Given the description of an element on the screen output the (x, y) to click on. 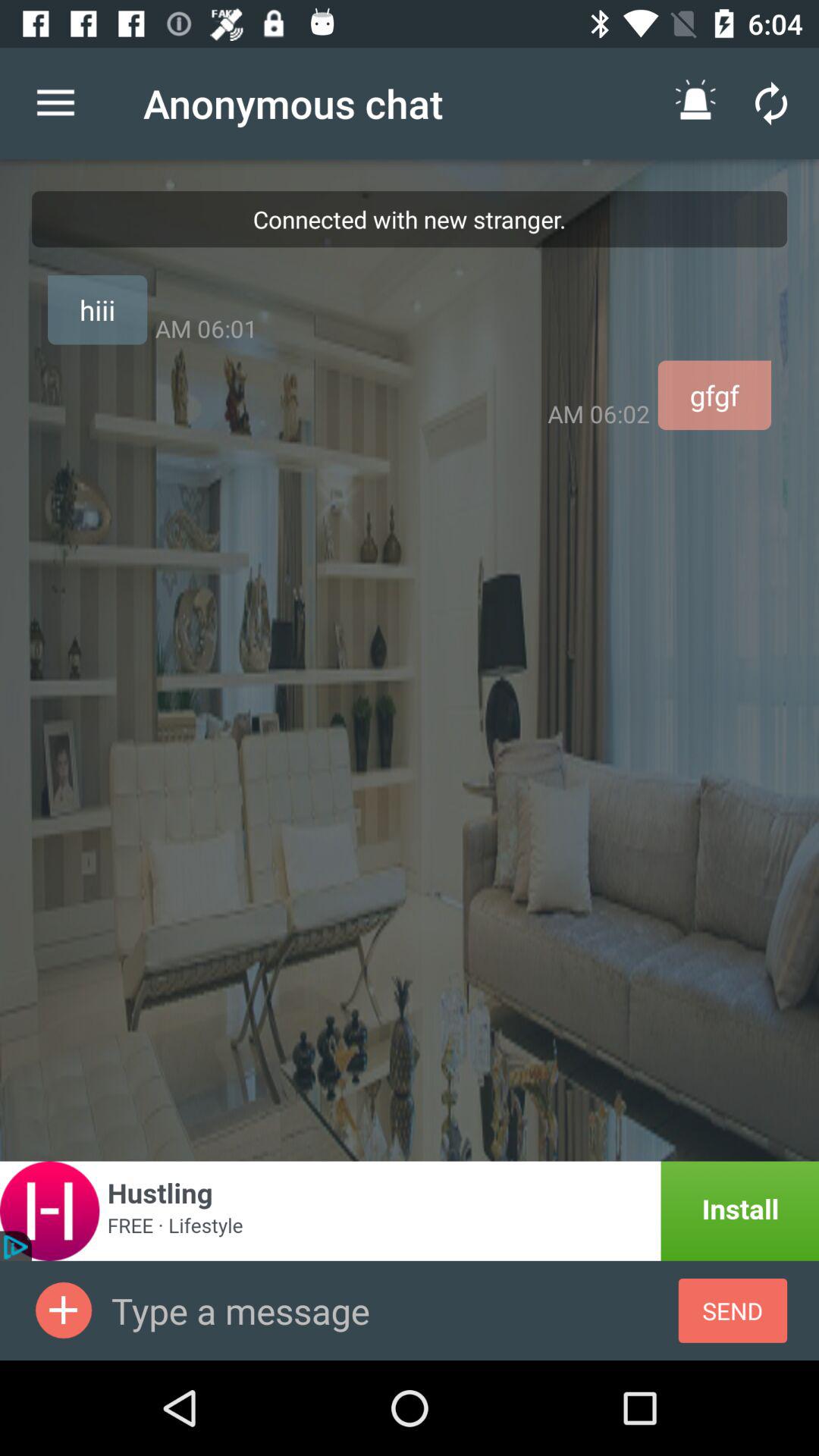
advertisement banner (409, 1210)
